Given the description of an element on the screen output the (x, y) to click on. 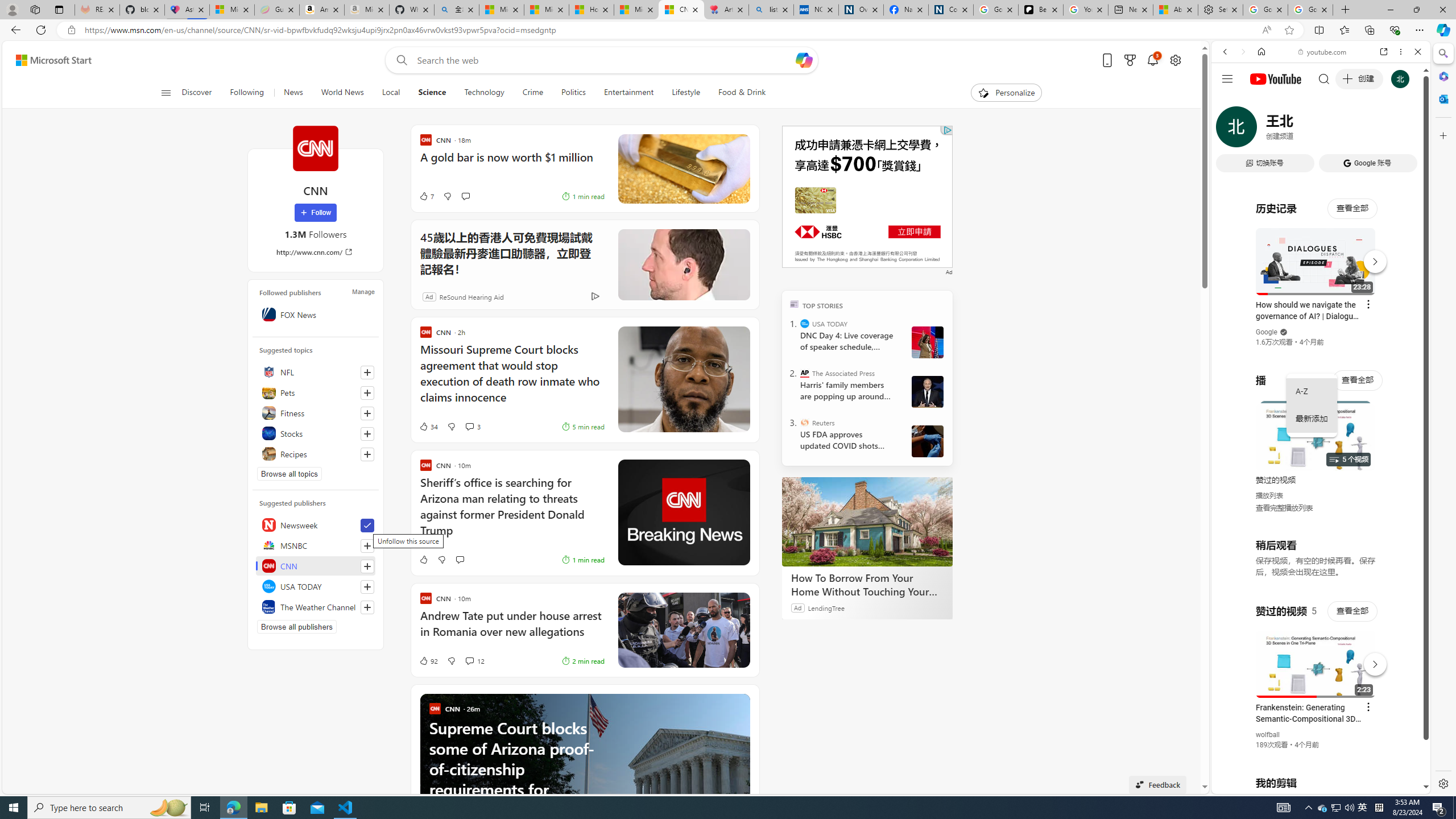
Ad Choice (595, 296)
Arthritis: Ask Health Professionals (726, 9)
Crime (532, 92)
Cookies (950, 9)
Enter your search term (603, 59)
Trailer #2 [HD] (1320, 337)
Start the conversation (459, 560)
Local (390, 92)
Forward (1242, 51)
Close Customize pane (1442, 135)
